Given the description of an element on the screen output the (x, y) to click on. 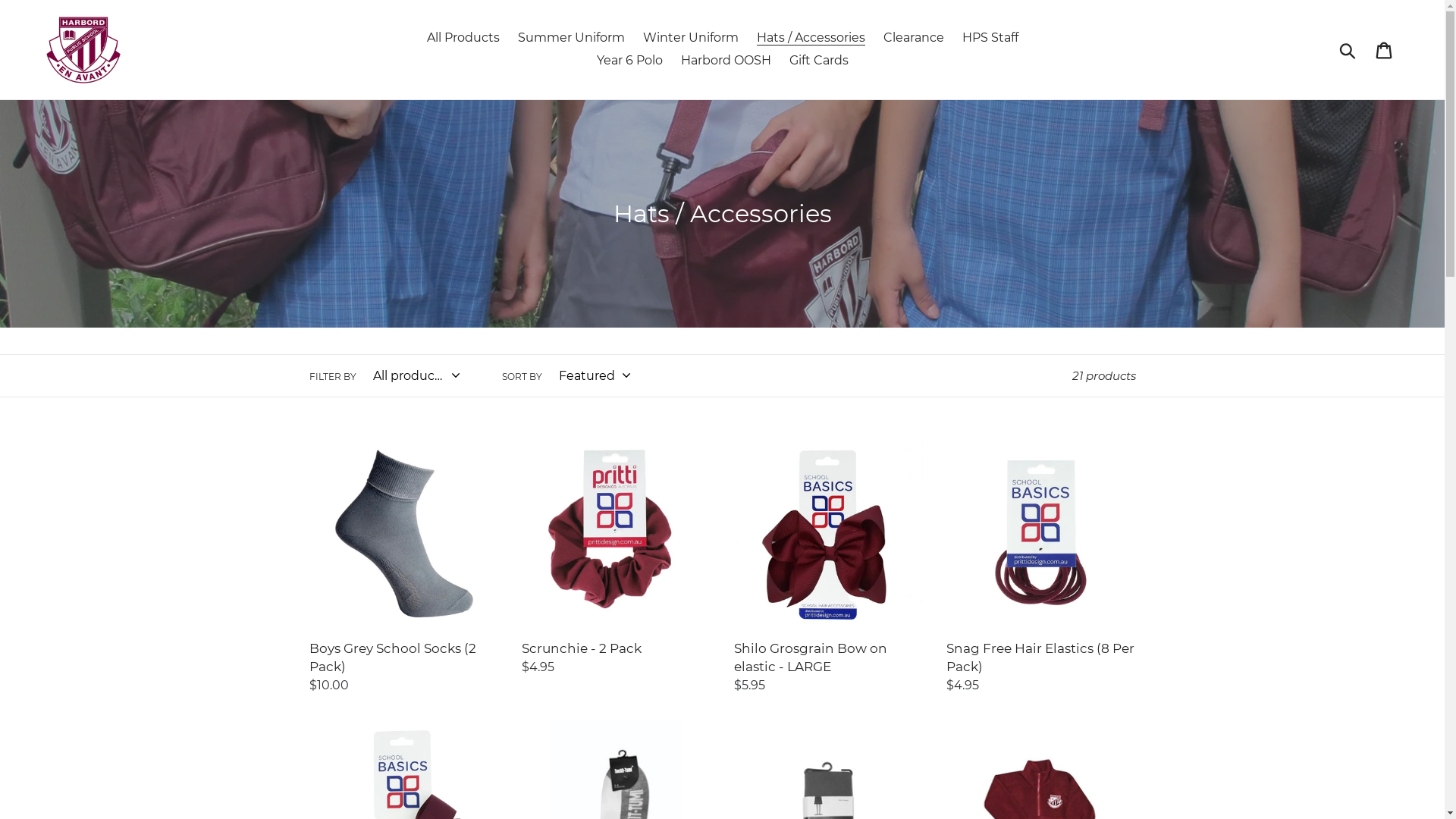
Clearance Element type: text (912, 37)
Hats / Accessories Element type: text (810, 37)
Boys Grey School Socks (2 Pack) Element type: text (403, 566)
Submit Element type: text (1348, 48)
Harbord OOSH Element type: text (725, 60)
Cart Element type: text (1384, 48)
Year 6 Polo Element type: text (628, 60)
Snag Free Hair Elastics (8 Per Pack) Element type: text (1040, 566)
HPS Staff Element type: text (989, 37)
Shilo Grosgrain Bow on elastic - LARGE Element type: text (828, 566)
Gift Cards Element type: text (818, 60)
Summer Uniform Element type: text (570, 37)
Winter Uniform Element type: text (690, 37)
All Products Element type: text (462, 37)
Scrunchie - 2 Pack Element type: text (616, 557)
